Given the description of an element on the screen output the (x, y) to click on. 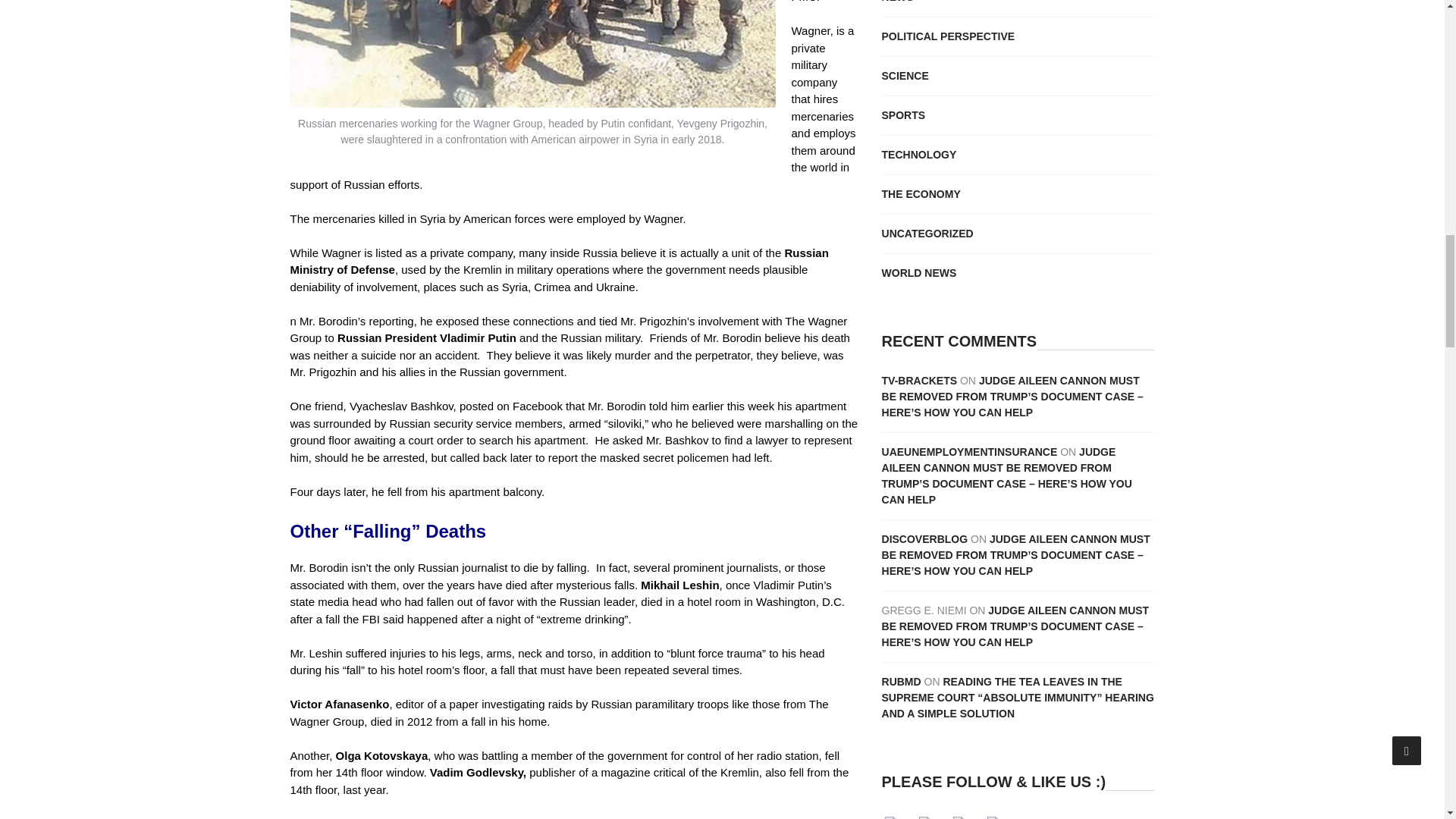
Facebook (968, 817)
Follow by Email (933, 817)
Twitter (1002, 817)
RSS (900, 817)
